Given the description of an element on the screen output the (x, y) to click on. 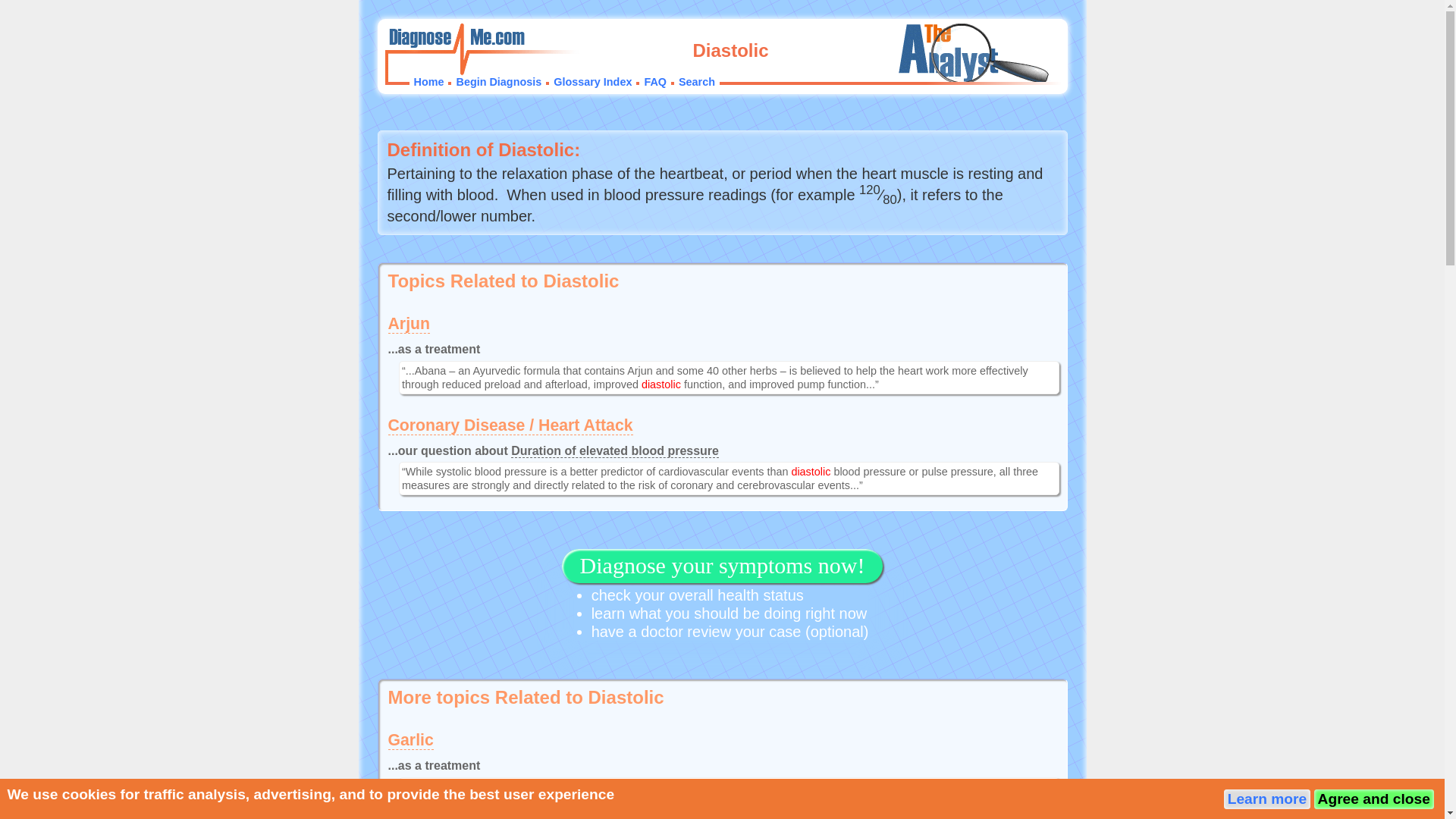
Duration of elevated blood pressure (615, 450)
Garlic (410, 740)
FAQ (654, 81)
Search (696, 81)
Glossary Index (592, 81)
Home (428, 81)
Learn more (1267, 798)
Begin Diagnosis (498, 81)
Diagnose your symptoms now! (722, 568)
Arjun (409, 323)
